Given the description of an element on the screen output the (x, y) to click on. 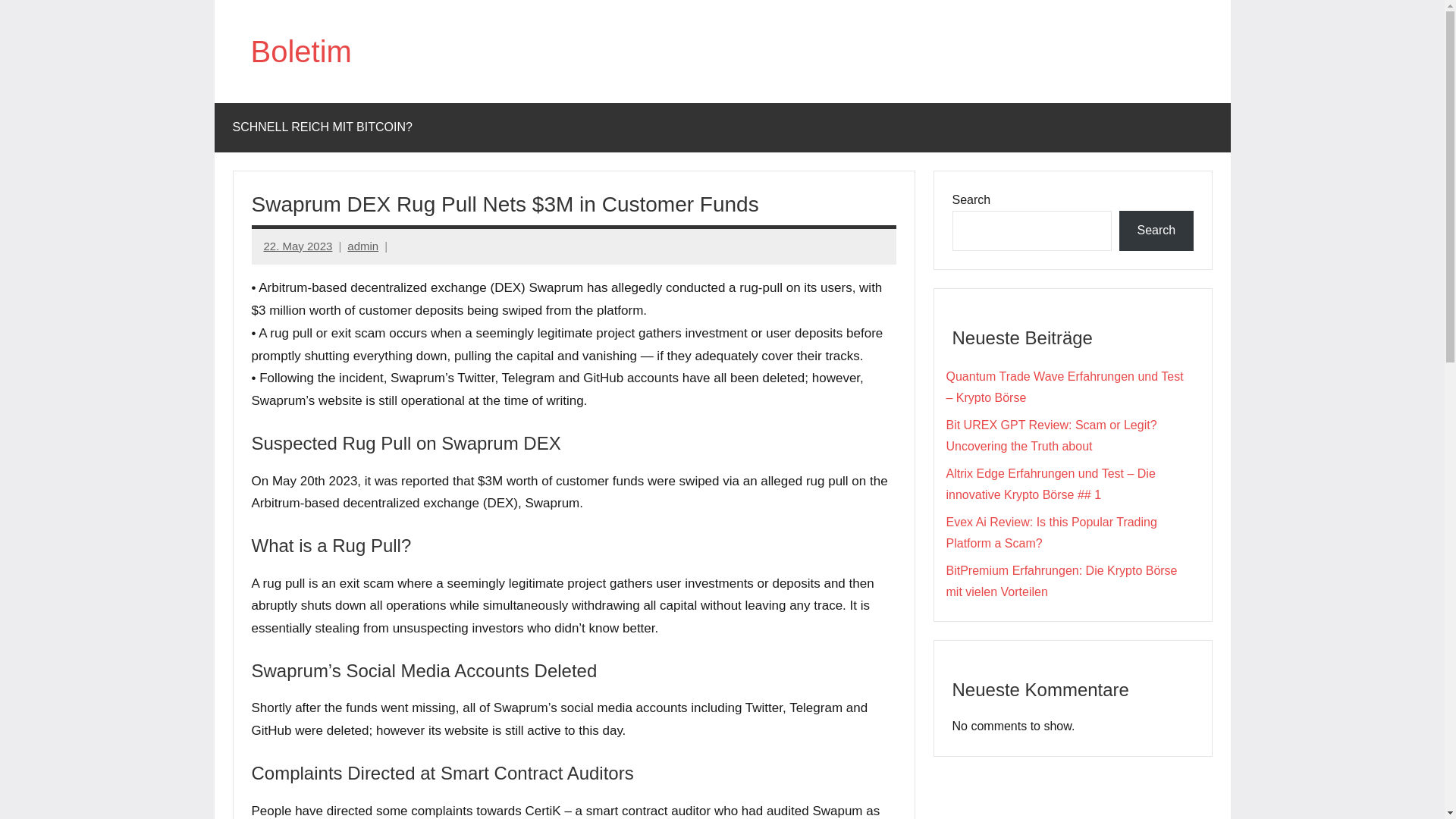
Evex Ai Review: Is this Popular Trading Platform a Scam? (1051, 532)
Search (1155, 230)
admin (362, 245)
22. May 2023 (298, 245)
SCHNELL REICH MIT BITCOIN? (321, 127)
View all posts by admin (362, 245)
Boletim (300, 51)
